Given the description of an element on the screen output the (x, y) to click on. 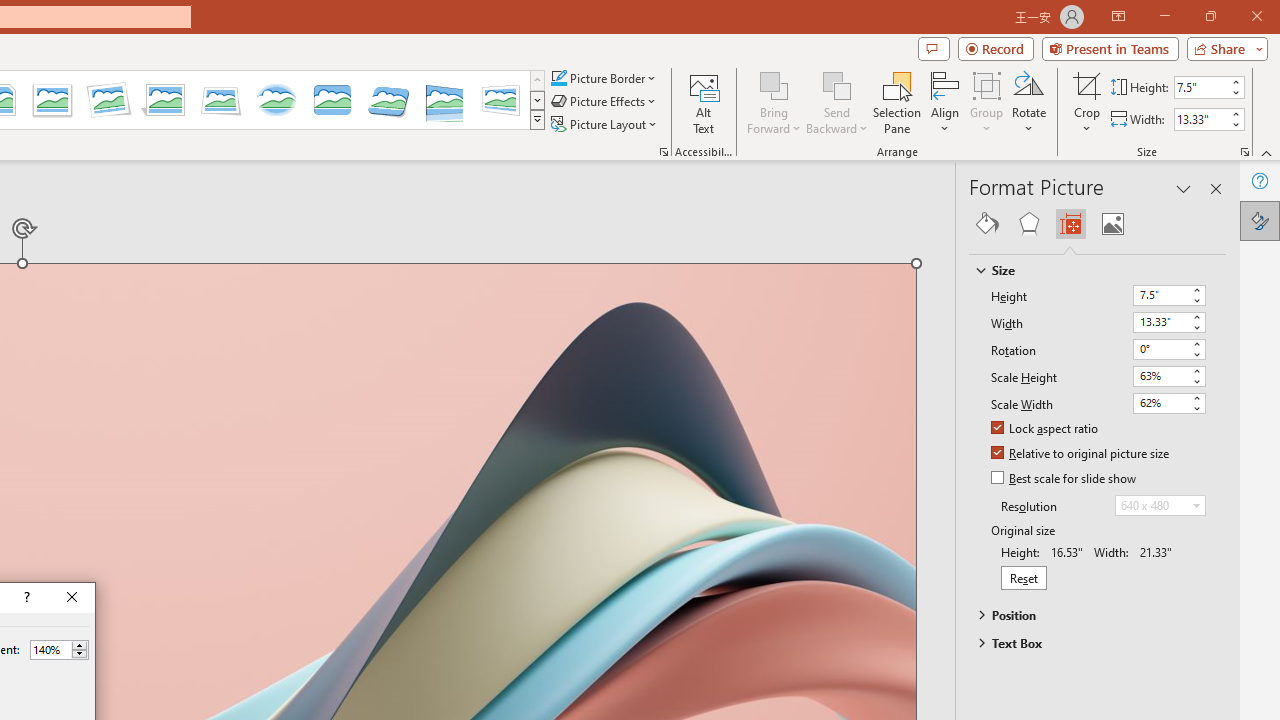
Format Picture (1260, 220)
Size & Properties (1070, 223)
Picture... (663, 151)
Width (1160, 322)
Bevel Rectangle (332, 100)
Perspective Shadow, White (164, 100)
Shape Width (1201, 119)
Bring Forward (773, 102)
